Given the description of an element on the screen output the (x, y) to click on. 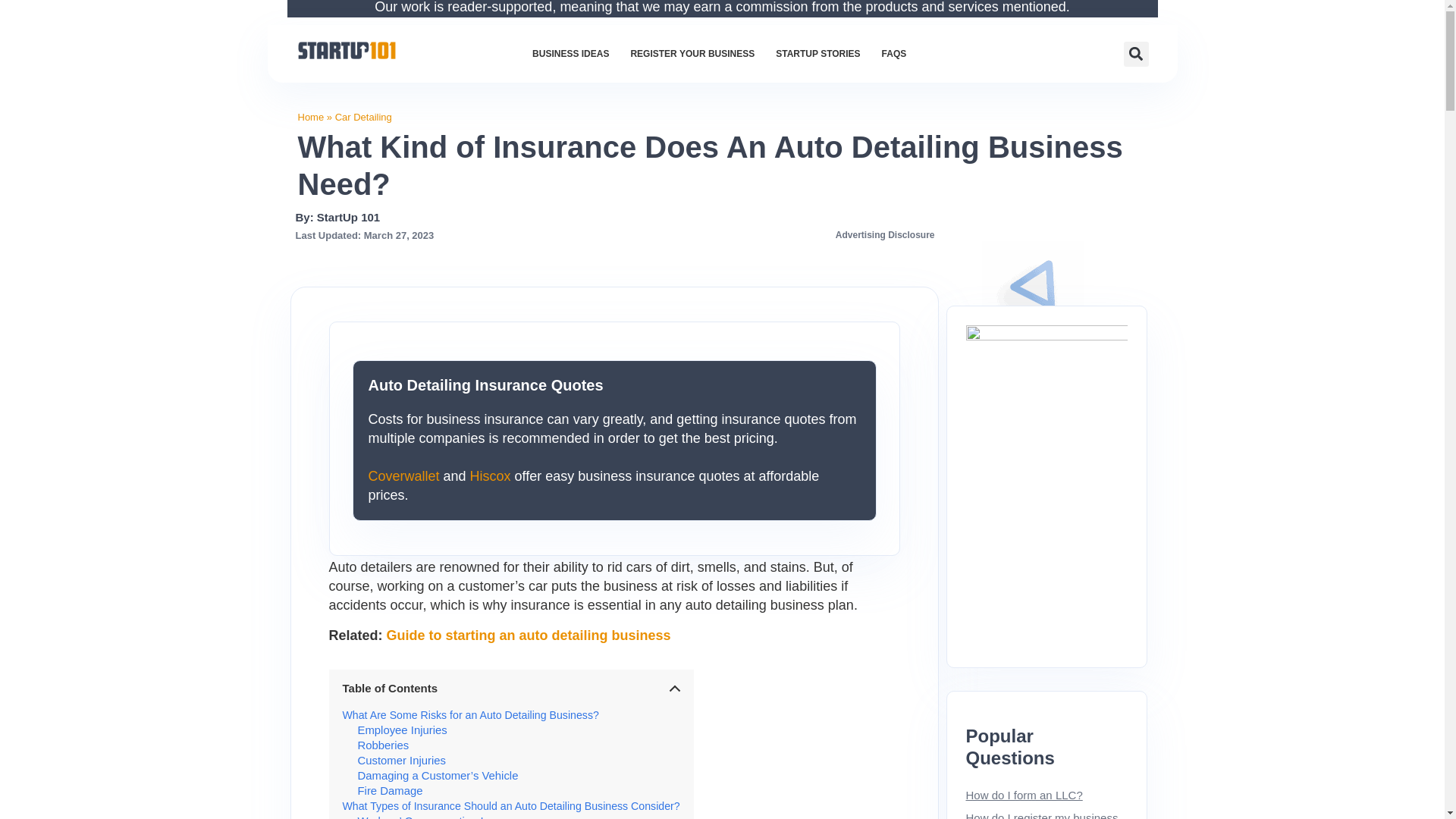
Fire Damage (390, 790)
Car Detailing (362, 116)
REGISTER YOUR BUSINESS (692, 53)
Employee Injuries (402, 729)
Coverwallet (403, 476)
What Are Some Risks for an Auto Detailing Business? (470, 715)
STARTUP STORIES (817, 53)
Customer Injuries (402, 760)
What Are Some Risks for an Auto Detailing Business? (470, 715)
FAQS (893, 53)
